Given the description of an element on the screen output the (x, y) to click on. 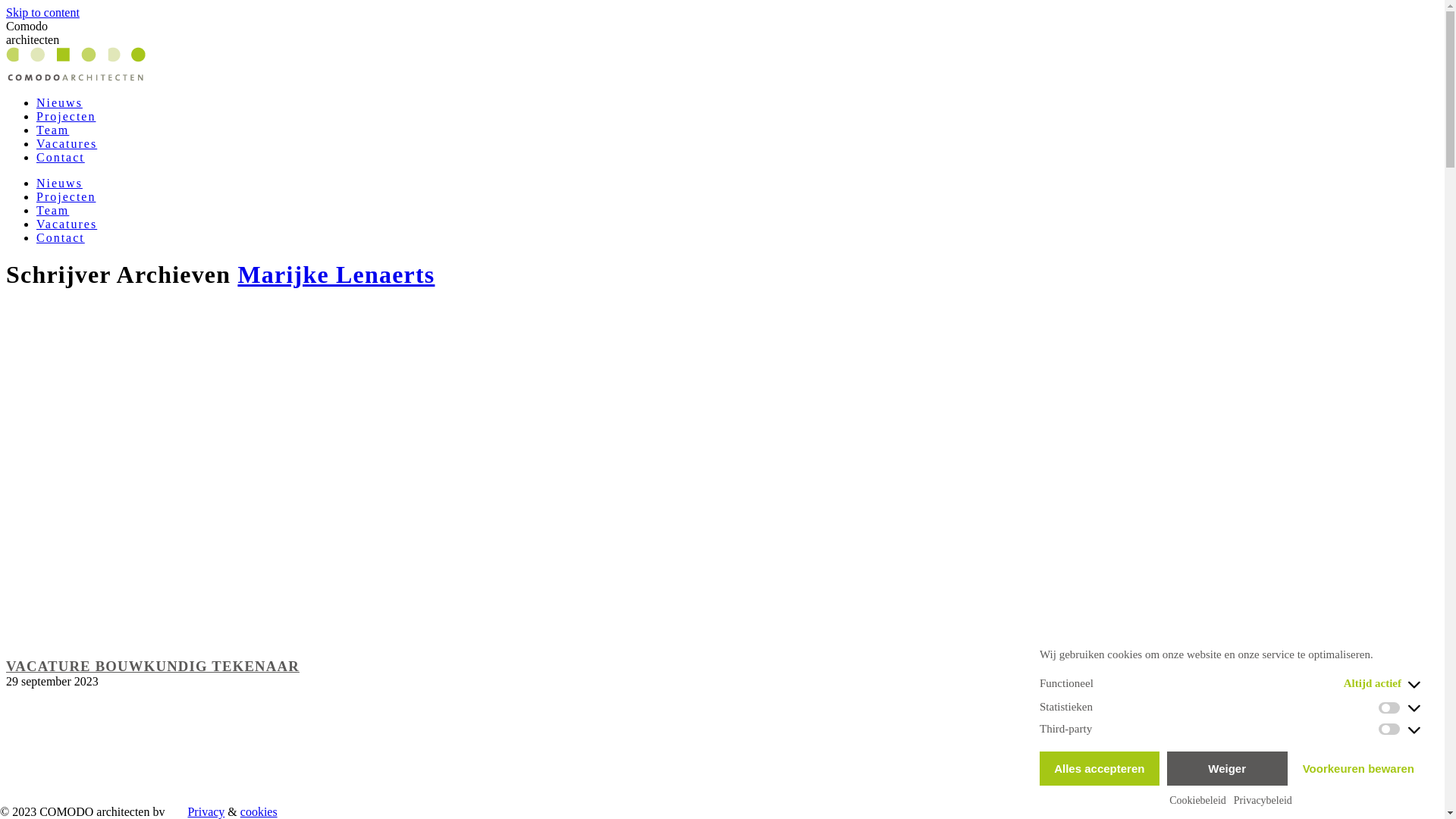
Team Element type: text (52, 129)
Contact Element type: text (60, 237)
Alles accepteren Element type: text (1099, 768)
Projecten Element type: text (65, 196)
bouwkundig tekenaar Element type: hover (297, 469)
Cookiebeleid Element type: text (1197, 800)
Skip to content Element type: text (42, 12)
Privacy Element type: text (205, 811)
Vacatures Element type: text (66, 223)
Nieuws Element type: text (59, 182)
Projecten Element type: text (65, 115)
Vacatures Element type: text (66, 143)
Contact Element type: text (60, 156)
Nieuws Element type: text (59, 102)
Marijke Lenaerts Element type: text (335, 274)
Weiger Element type: text (1227, 768)
Team Element type: text (52, 209)
VACATURE BOUWKUNDIG TEKENAAR Element type: text (152, 666)
cookies Element type: text (258, 811)
Privacybeleid Element type: text (1262, 800)
Voorkeuren bewaren Element type: text (1358, 768)
